Given the description of an element on the screen output the (x, y) to click on. 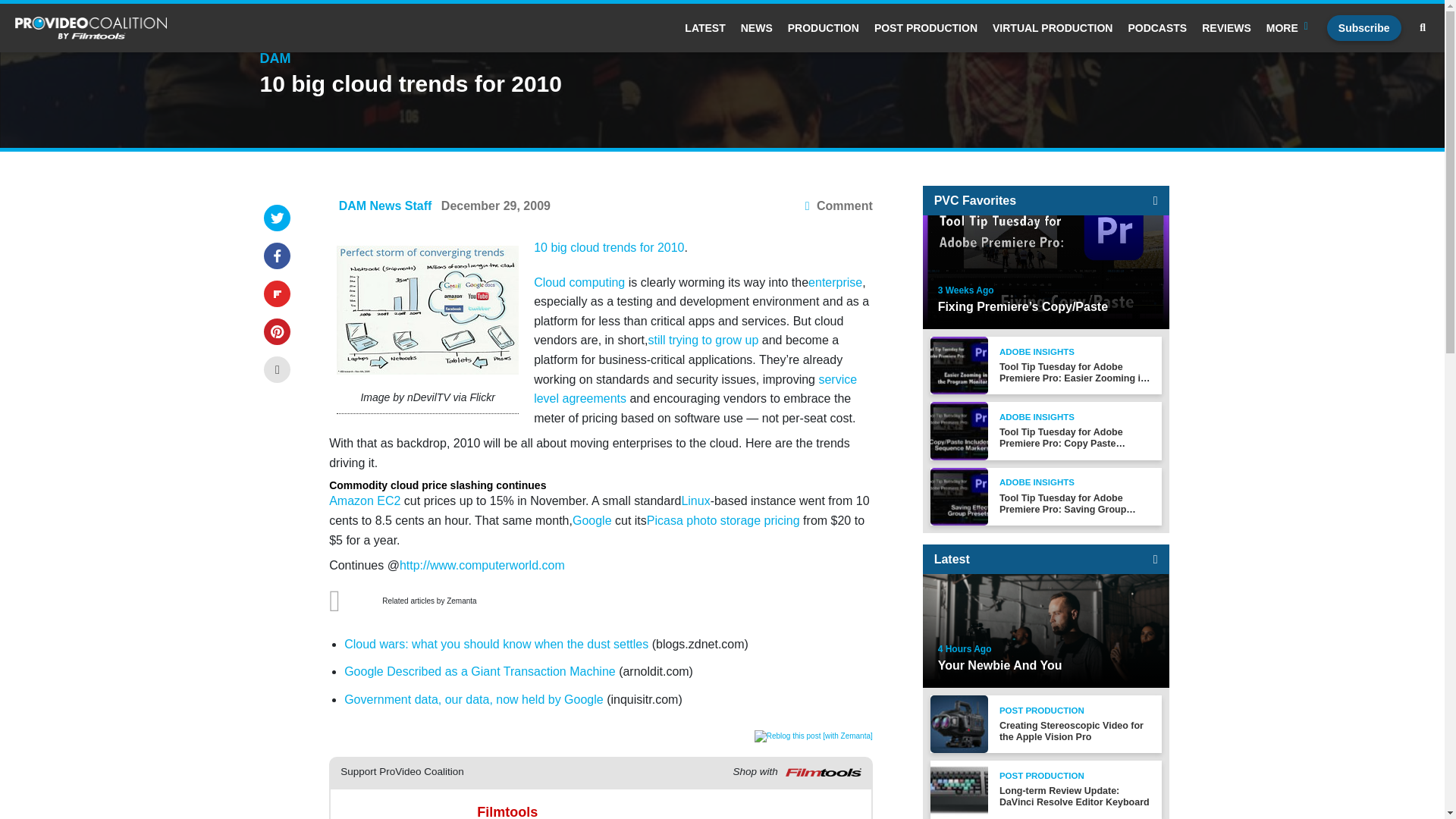
MORE (1288, 27)
News (757, 27)
POST PRODUCTION (925, 27)
Search (1422, 27)
Google Chrome OS (427, 309)
Production (823, 27)
enterprise (834, 282)
VIRTUAL PRODUCTION (1052, 27)
Cloud computing (579, 282)
Comment (838, 206)
